Given the description of an element on the screen output the (x, y) to click on. 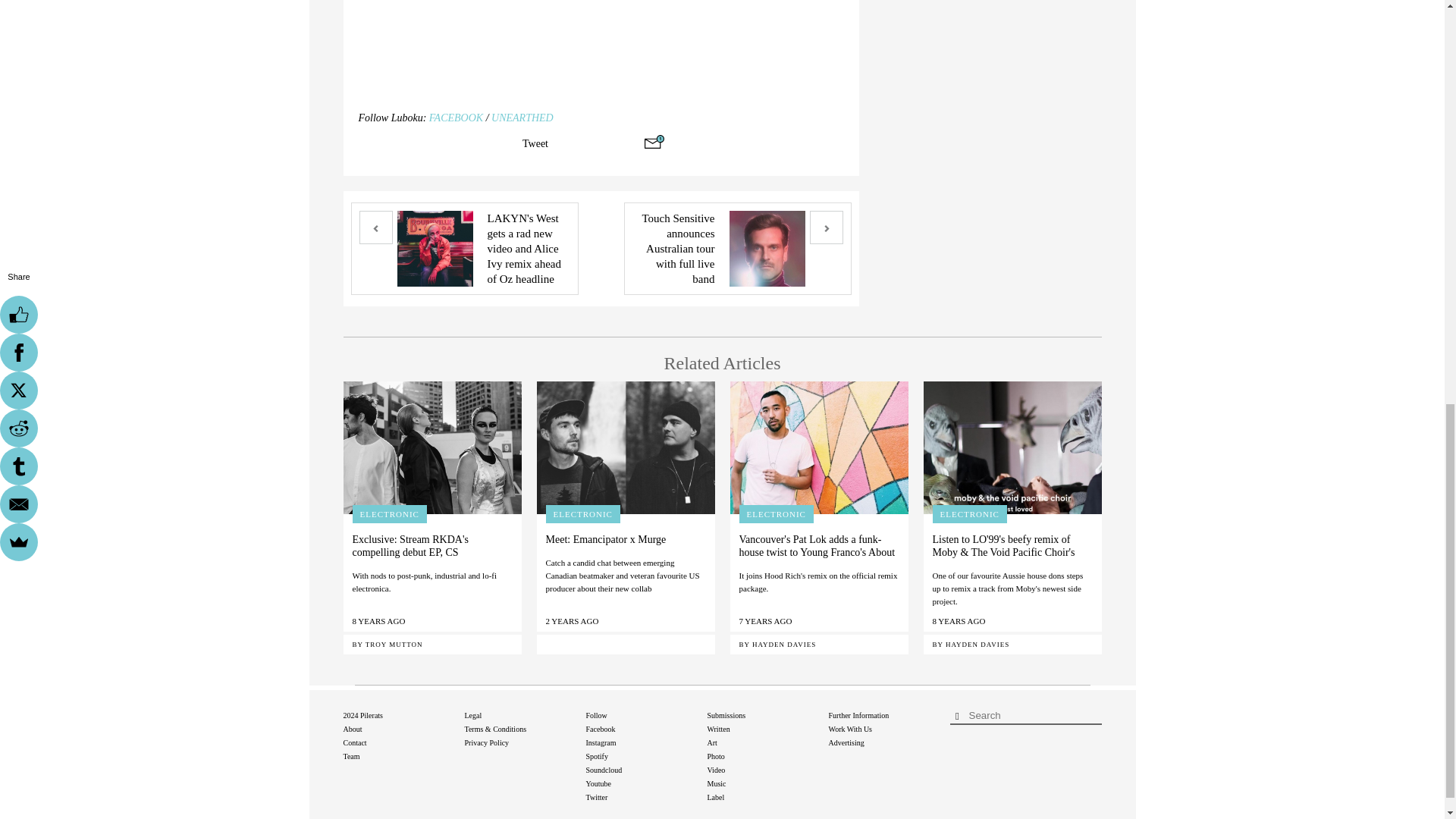
Share via email (654, 141)
